Given the description of an element on the screen output the (x, y) to click on. 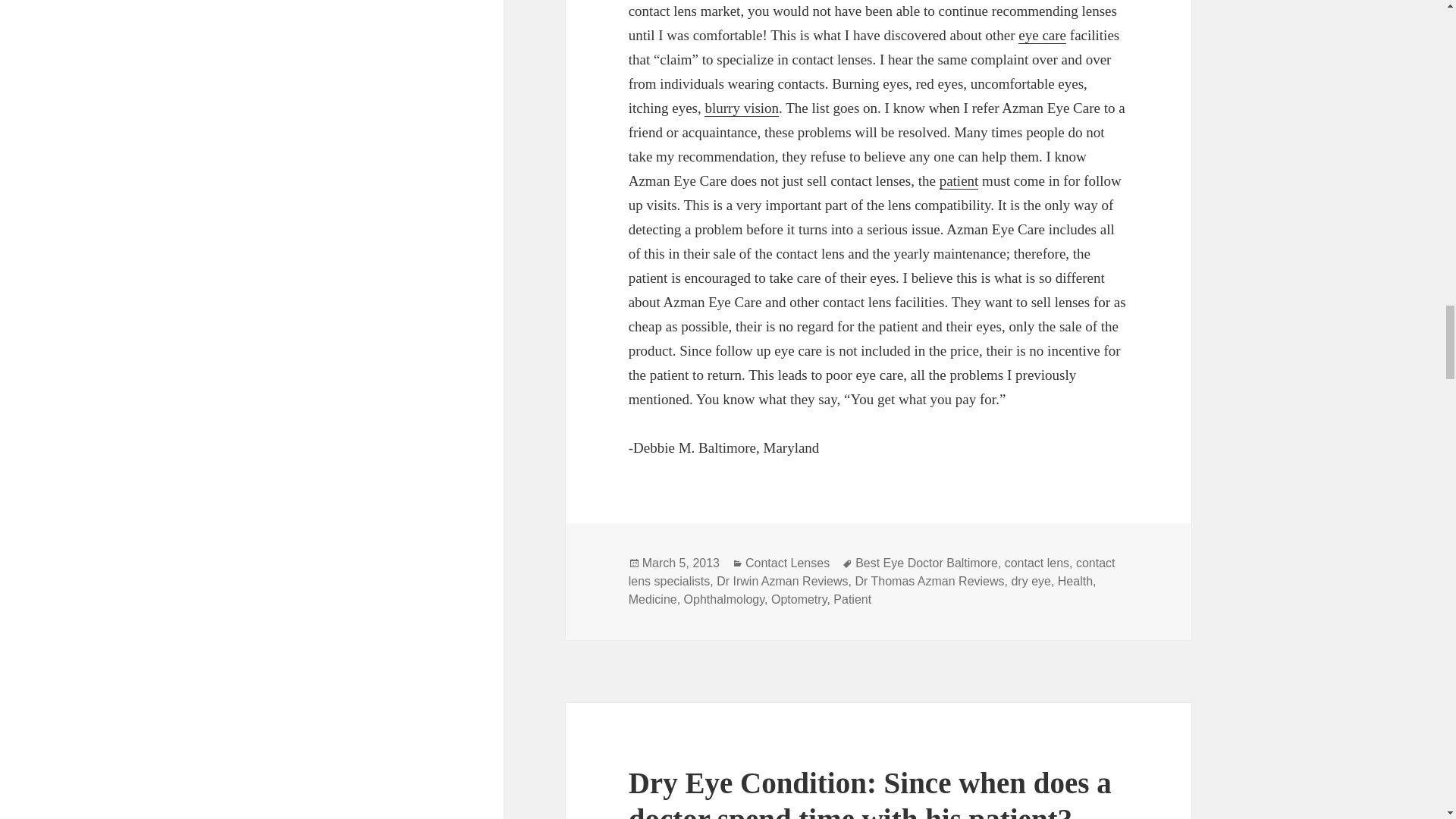
Optometry (1041, 35)
Patient (958, 180)
Blurred vision (741, 108)
